Given the description of an element on the screen output the (x, y) to click on. 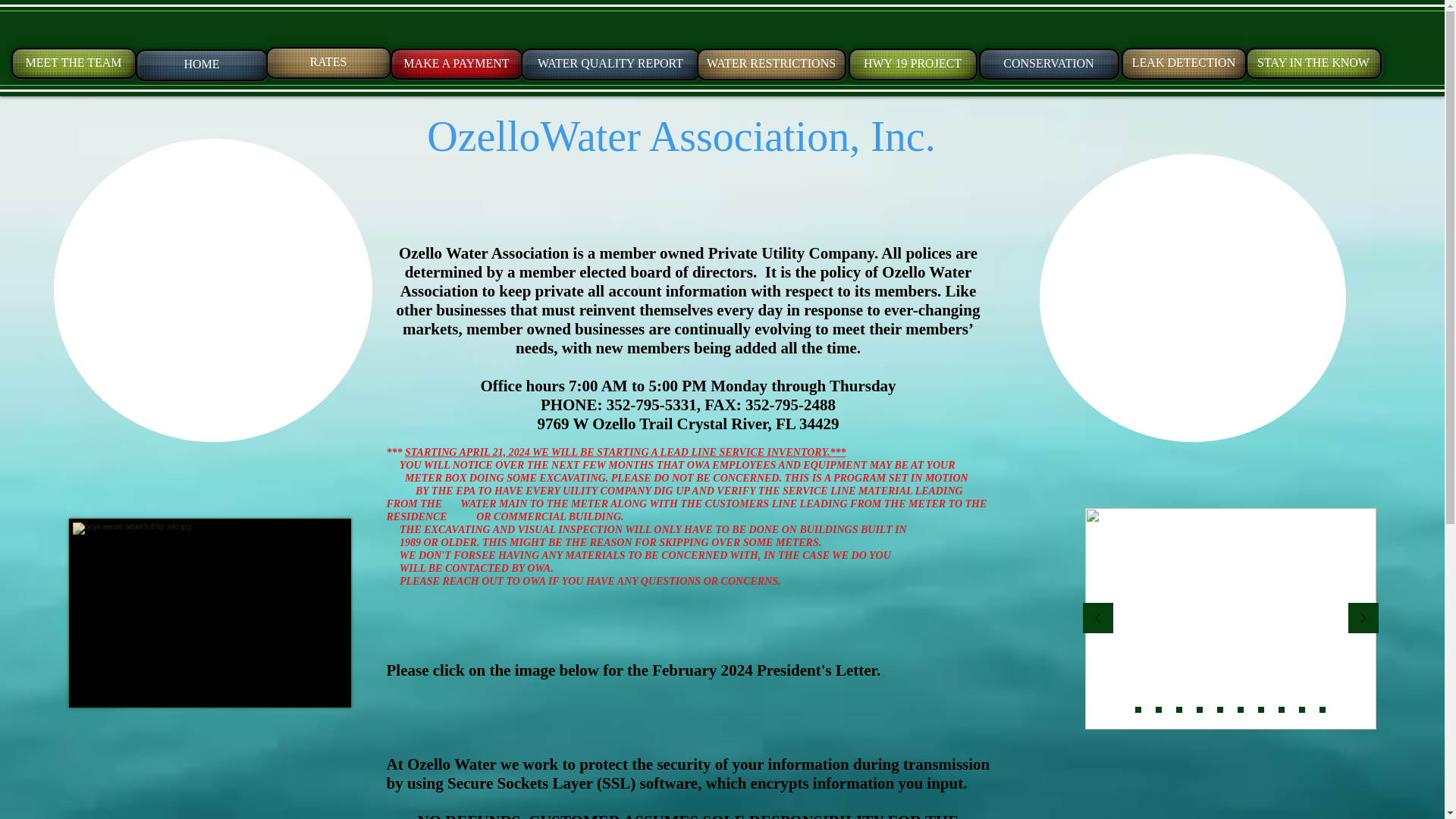
CONSERVATION (1048, 63)
WATER RESTRICTIONS (770, 64)
HWY 19 PROJECT (911, 64)
LEAK DETECTION (1183, 63)
RATES (327, 62)
SIGNED PRESIDENTS LETTER 2-15-24.pdf (655, 681)
MEET THE TEAM (72, 62)
HOME (201, 65)
STAY IN THE KNOW (1312, 62)
WATER QUALITY REPORT (609, 64)
MAKE A PAYMENT (456, 63)
